Given the description of an element on the screen output the (x, y) to click on. 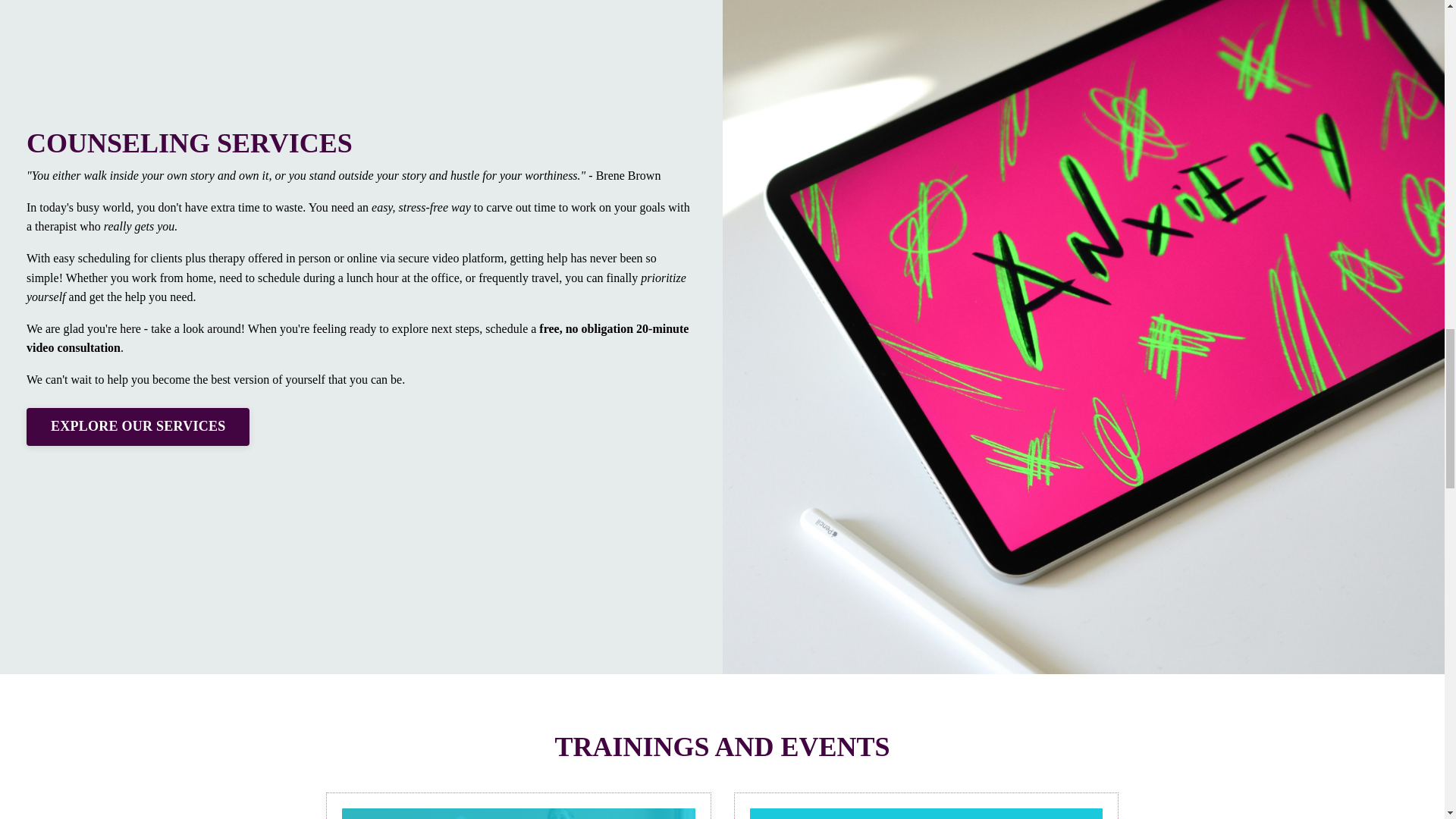
EXPLORE OUR SERVICES (137, 426)
